Given the description of an element on the screen output the (x, y) to click on. 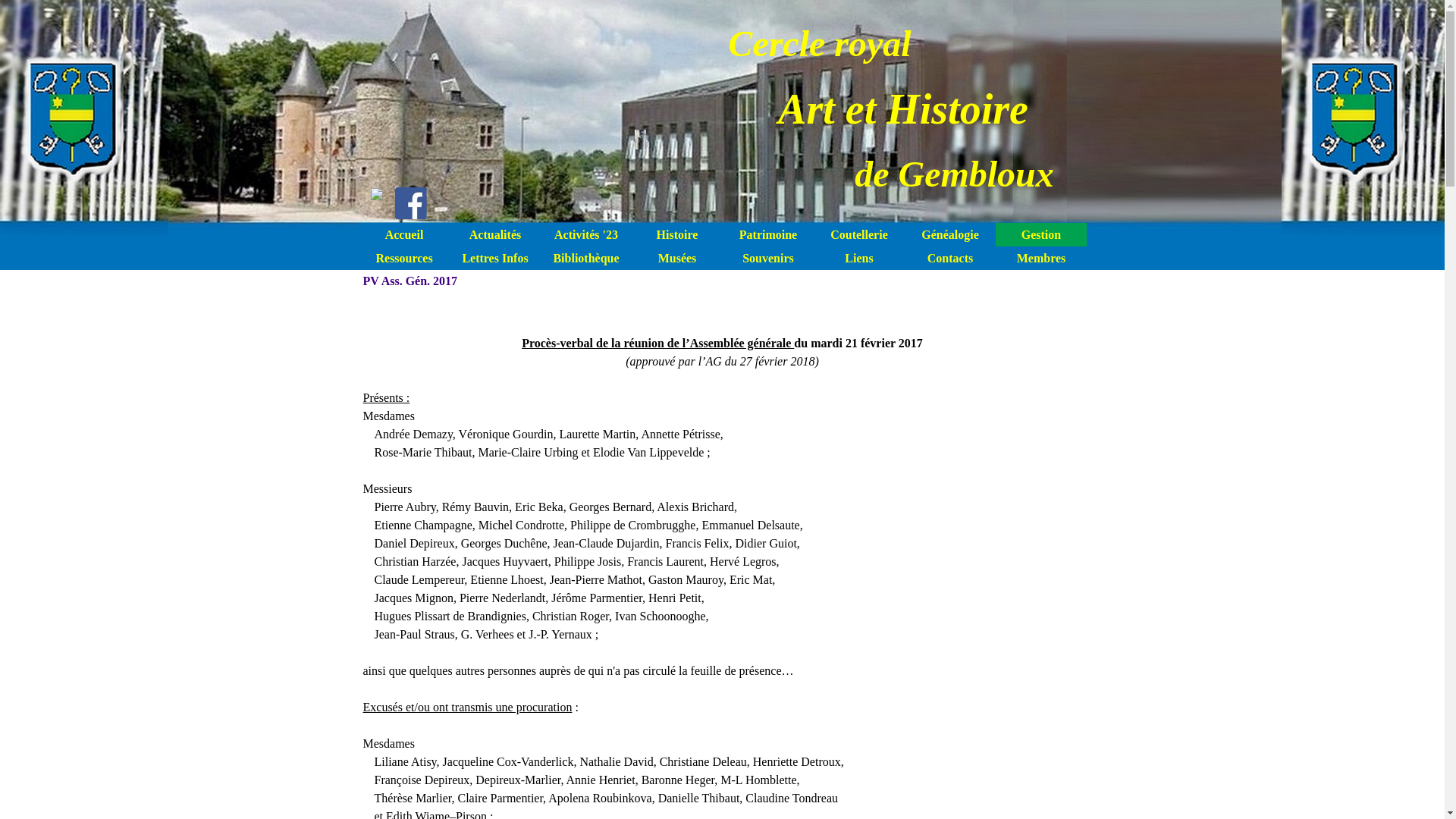
Accueil Element type: text (404, 234)
Liens Element type: text (859, 257)
Souvenirs Element type: text (768, 257)
Lettres Infos Element type: text (495, 257)
Ressources Element type: text (404, 257)
Contacts Element type: text (950, 257)
Membres Element type: text (1041, 257)
